Given the description of an element on the screen output the (x, y) to click on. 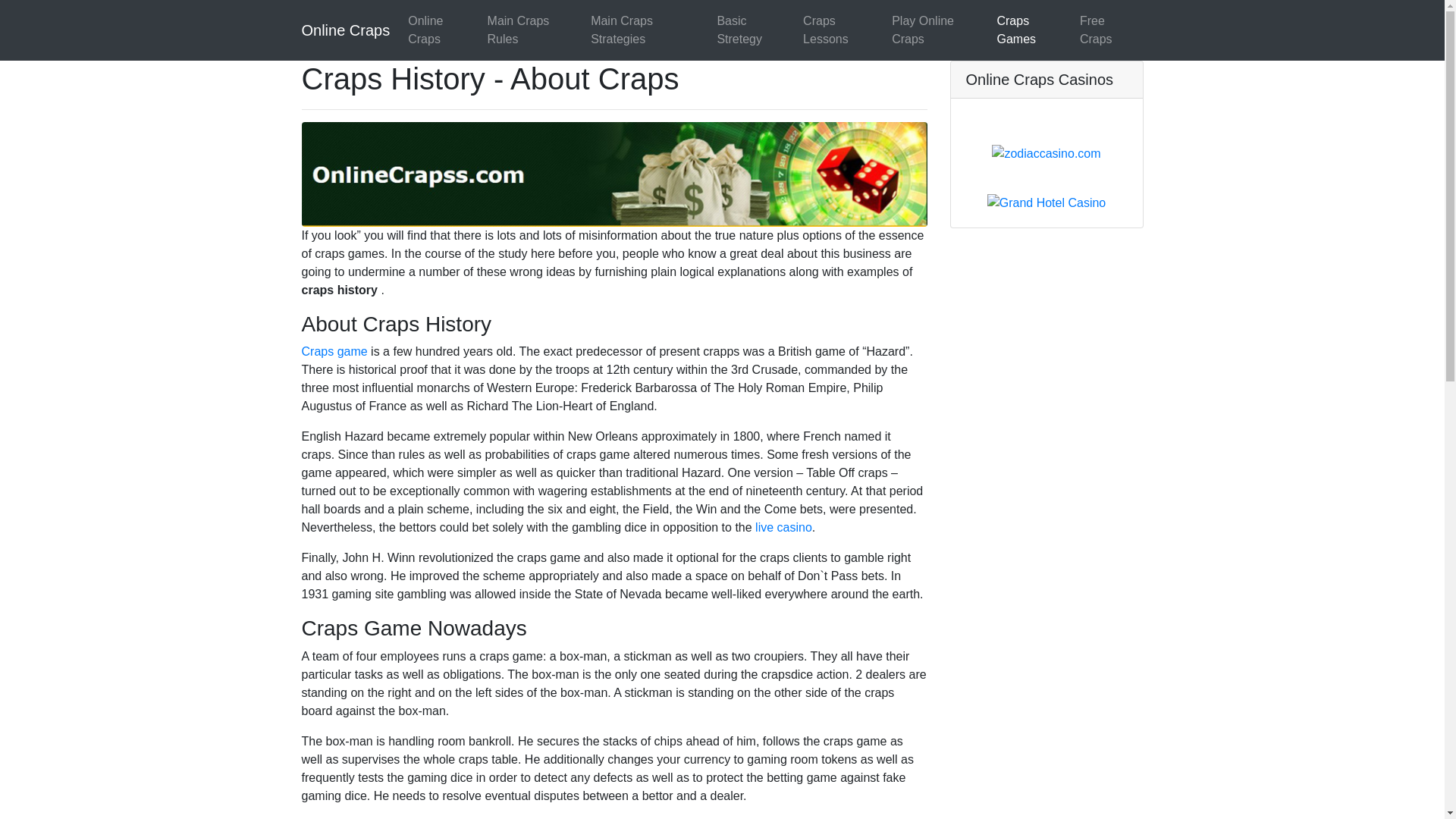
Free Craps (1108, 29)
Basic Stretegy (753, 29)
Grand Hotel Casino (1046, 201)
Main Craps Rules (533, 29)
Craps Lessons (840, 29)
Main Craps Strategies (647, 29)
Craps game (334, 350)
Play Online Craps (937, 29)
zodiaccasino.com (1045, 152)
Online Craps (345, 30)
